Given the description of an element on the screen output the (x, y) to click on. 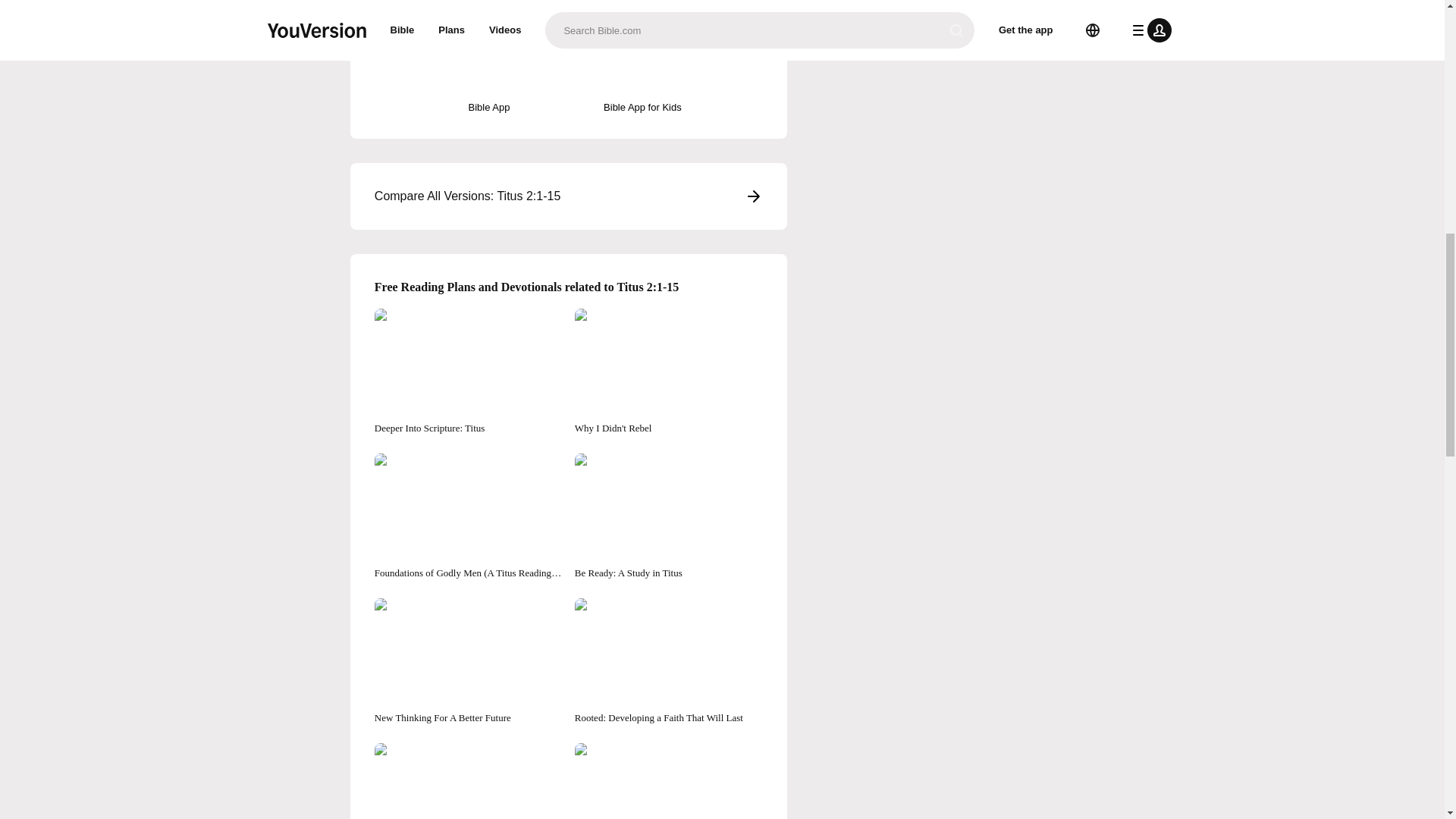
Why I Didn't Rebel (668, 371)
Rooted: Developing a Faith That Will Last (668, 661)
Deeper Into Scripture: Titus (468, 371)
Bible App for Kids (642, 74)
Compare All Versions: Titus 2:1-15 (568, 196)
3 Biblical Strategies for Making Tough Decisions (668, 780)
New Thinking For A Better Future (468, 661)
Be Ready: A Study in Titus (668, 516)
Keys To A Successful Marriage (468, 780)
